Given the description of an element on the screen output the (x, y) to click on. 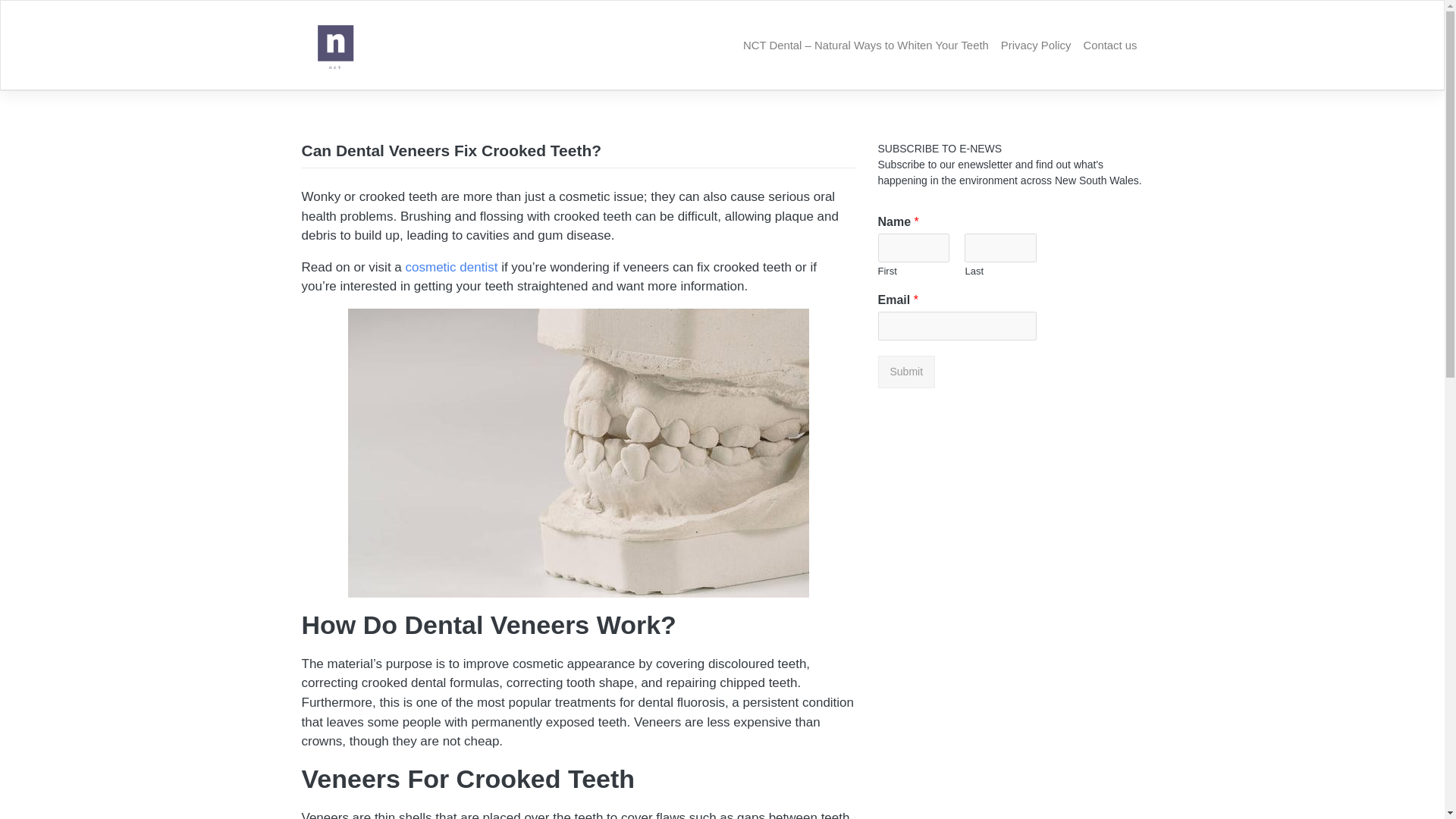
cosmetic dentist (451, 267)
Contact us (1109, 45)
Contact us (1109, 45)
Privacy Policy (1035, 45)
Privacy Policy (1035, 45)
Submit (906, 371)
